Given the description of an element on the screen output the (x, y) to click on. 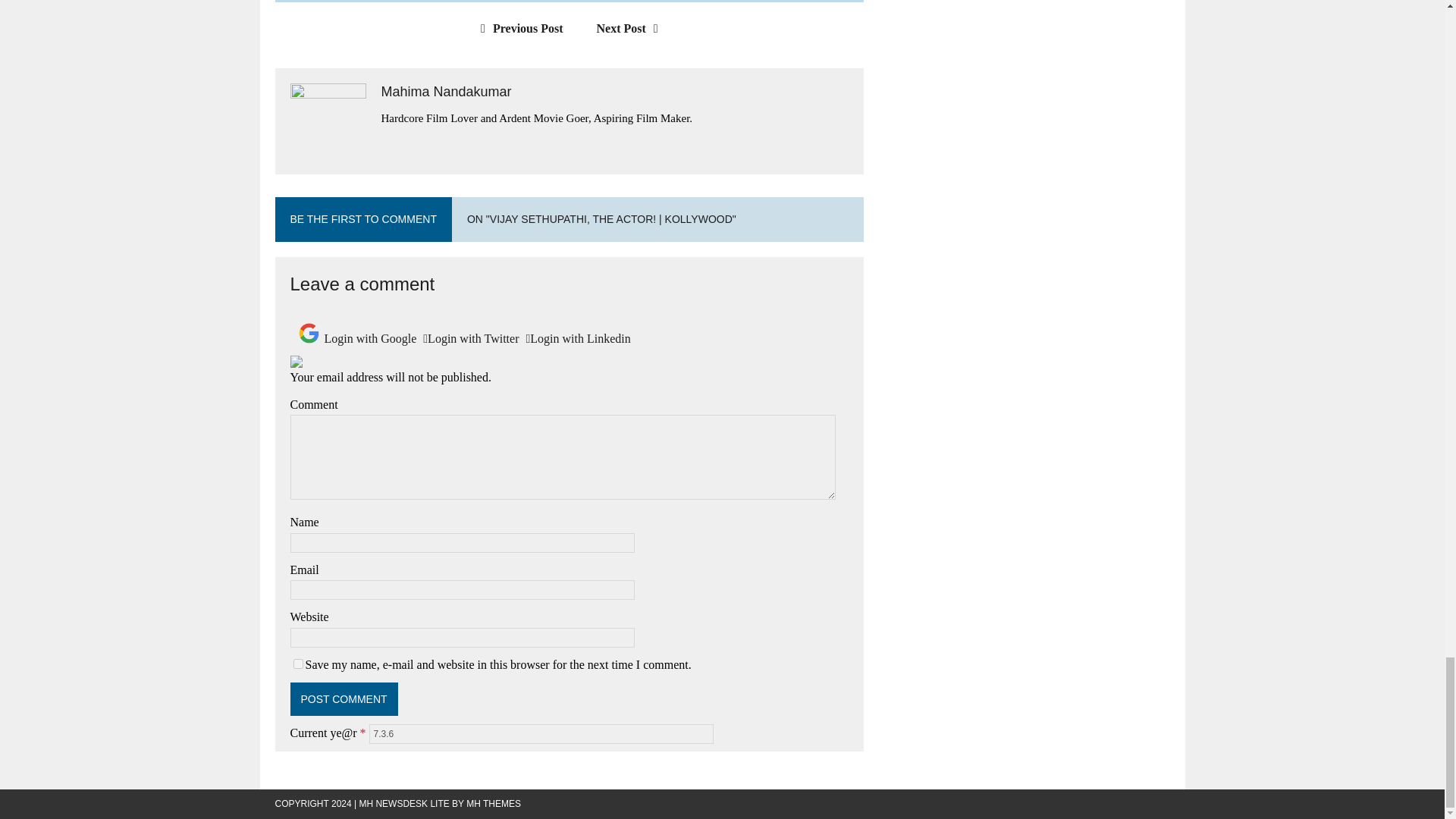
7.3.6 (541, 733)
yes (297, 664)
Post Comment (343, 698)
